Given the description of an element on the screen output the (x, y) to click on. 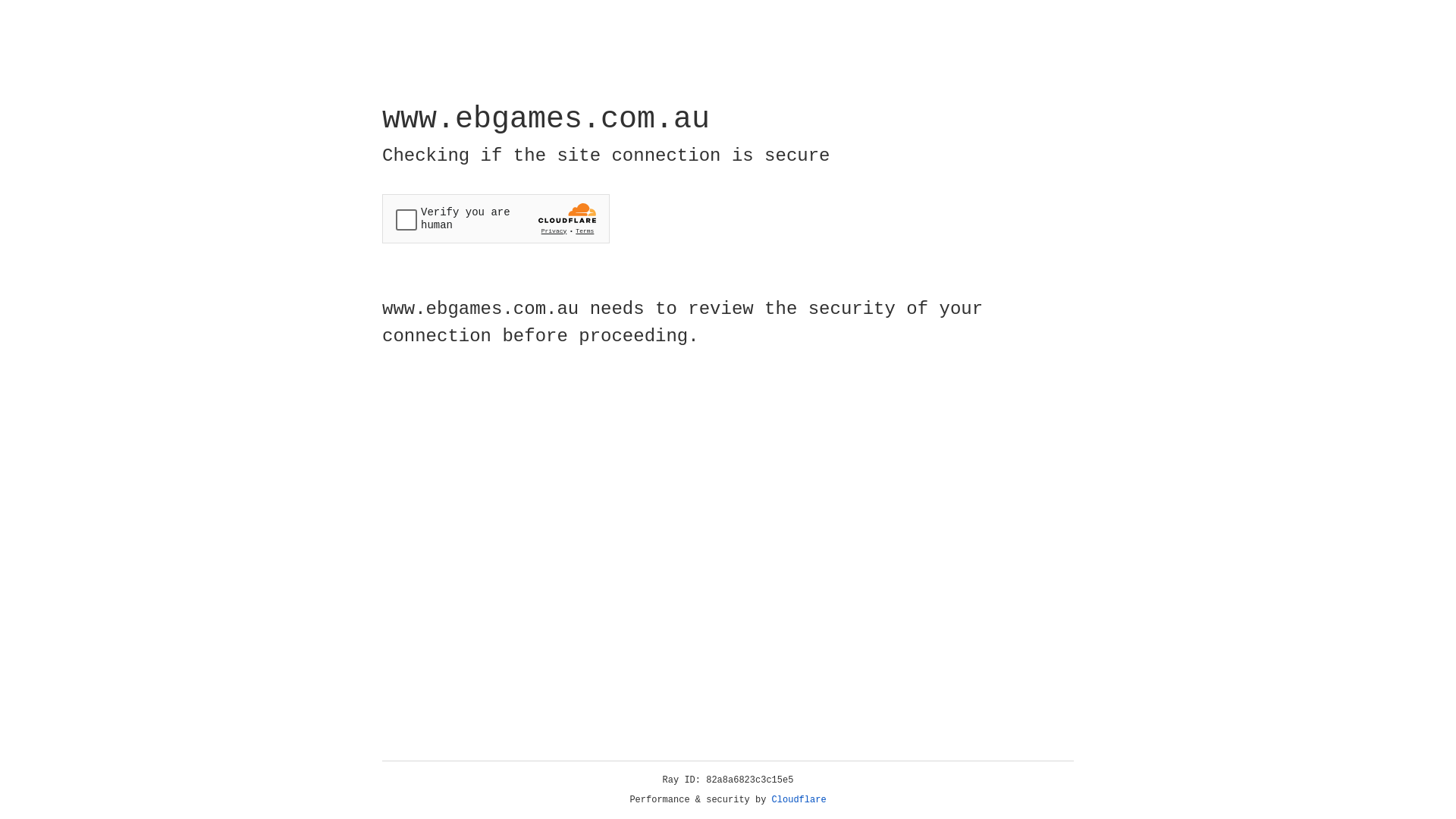
Widget containing a Cloudflare security challenge Element type: hover (495, 218)
Cloudflare Element type: text (798, 799)
